Given the description of an element on the screen output the (x, y) to click on. 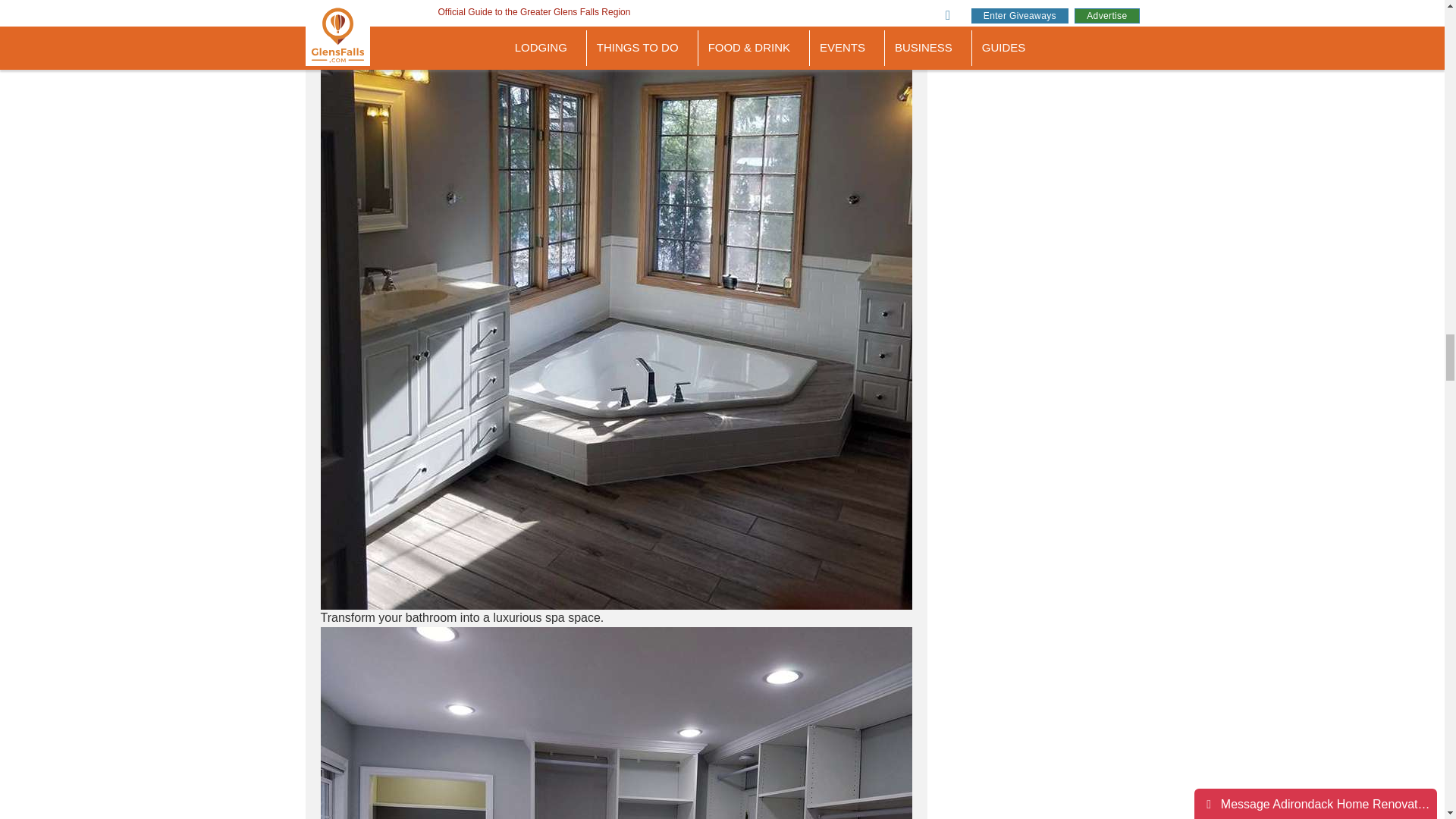
Build the master closet of your dreams! (615, 723)
